Given the description of an element on the screen output the (x, y) to click on. 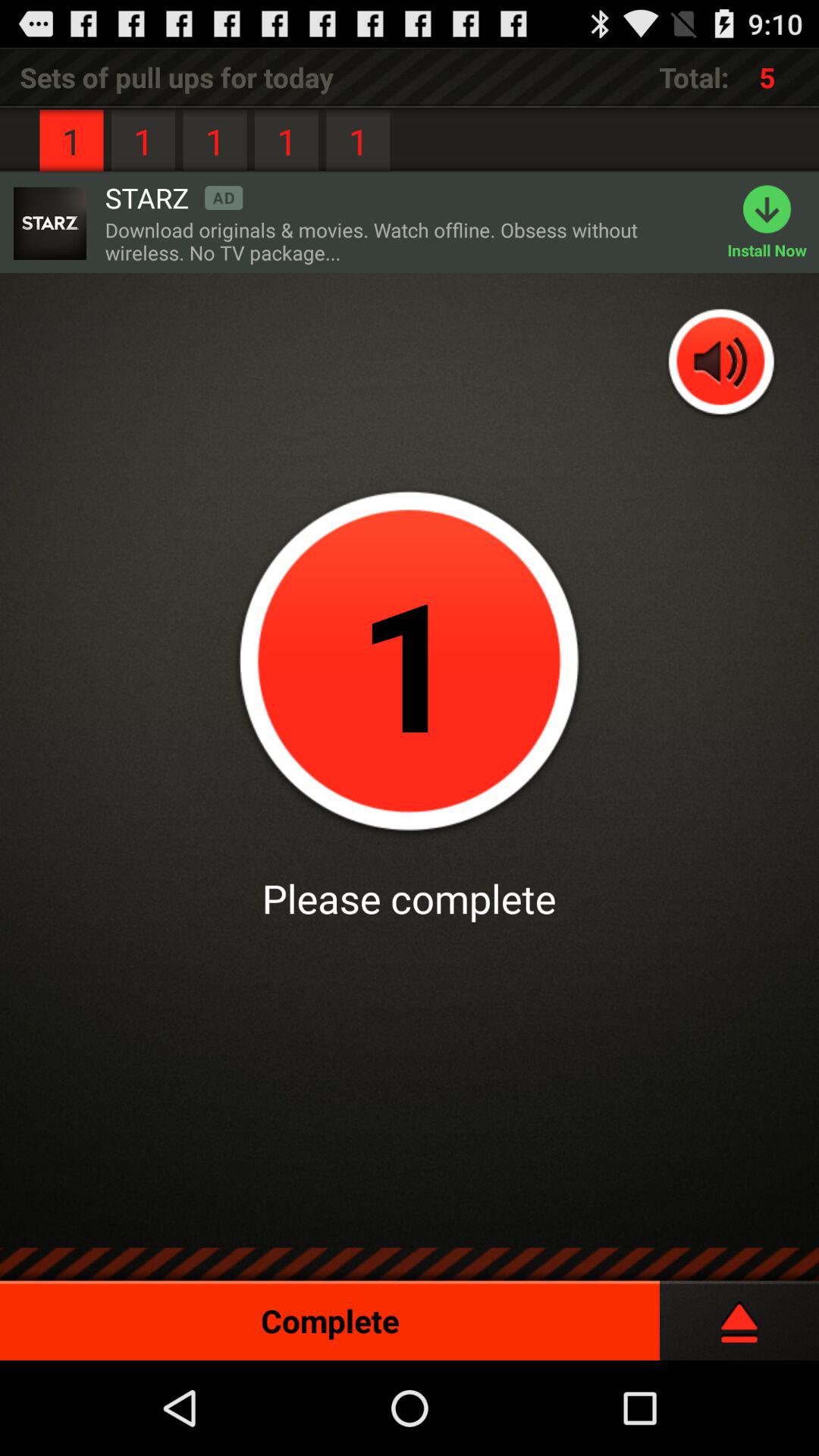
click the app next to download originals movies (773, 223)
